Given the description of an element on the screen output the (x, y) to click on. 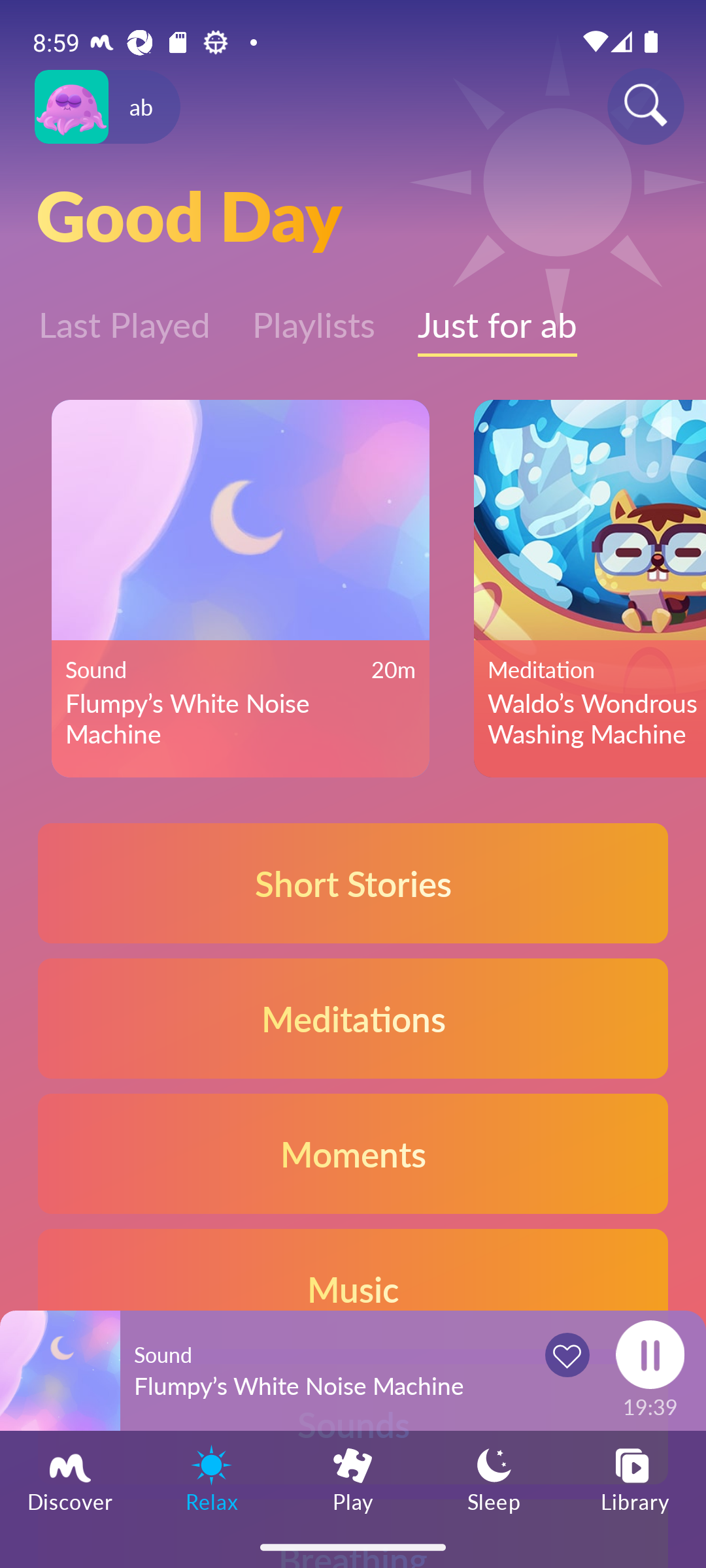
Profile icon ab (107, 107)
Last Played (123, 315)
Playlists (313, 315)
Short Stories (352, 883)
Meditations (352, 1017)
Moments (352, 1152)
Sound Flumpy’s White Noise Machine 19:40 (353, 1370)
Discover (70, 1478)
Play (352, 1478)
Sleep (493, 1478)
Library (635, 1478)
